Given the description of an element on the screen output the (x, y) to click on. 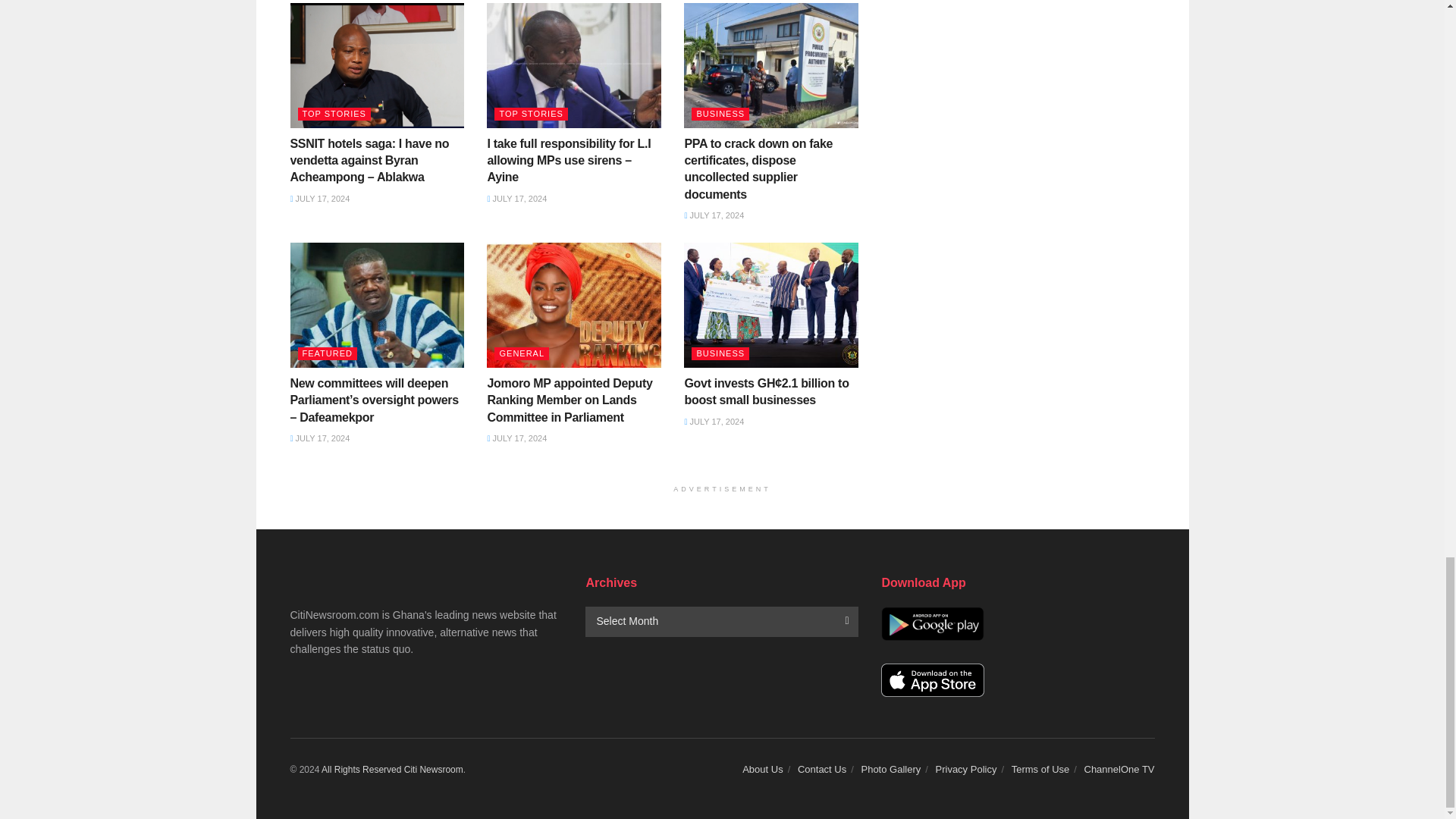
Citi Newsroom (433, 769)
Citi Newsroom (361, 769)
Google Play (932, 623)
App Store (932, 680)
